Given the description of an element on the screen output the (x, y) to click on. 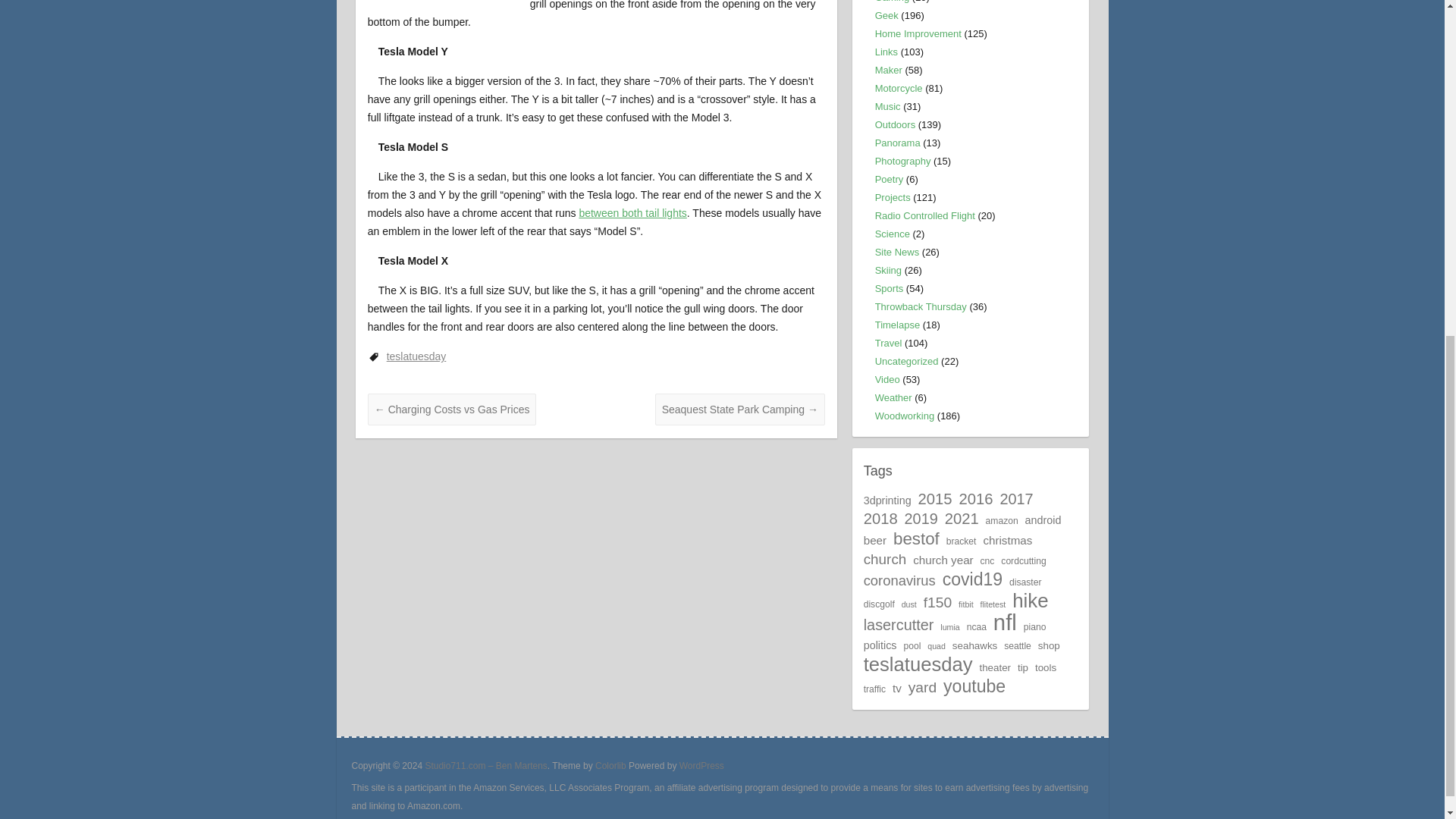
Skiing (888, 270)
Projects (893, 197)
Home Improvement (917, 33)
Sports (889, 288)
Timelapse (897, 324)
Outdoors (895, 124)
Travel (888, 342)
Radio Controlled Flight (925, 215)
Geek (886, 15)
Throwback Thursday (920, 306)
